Given the description of an element on the screen output the (x, y) to click on. 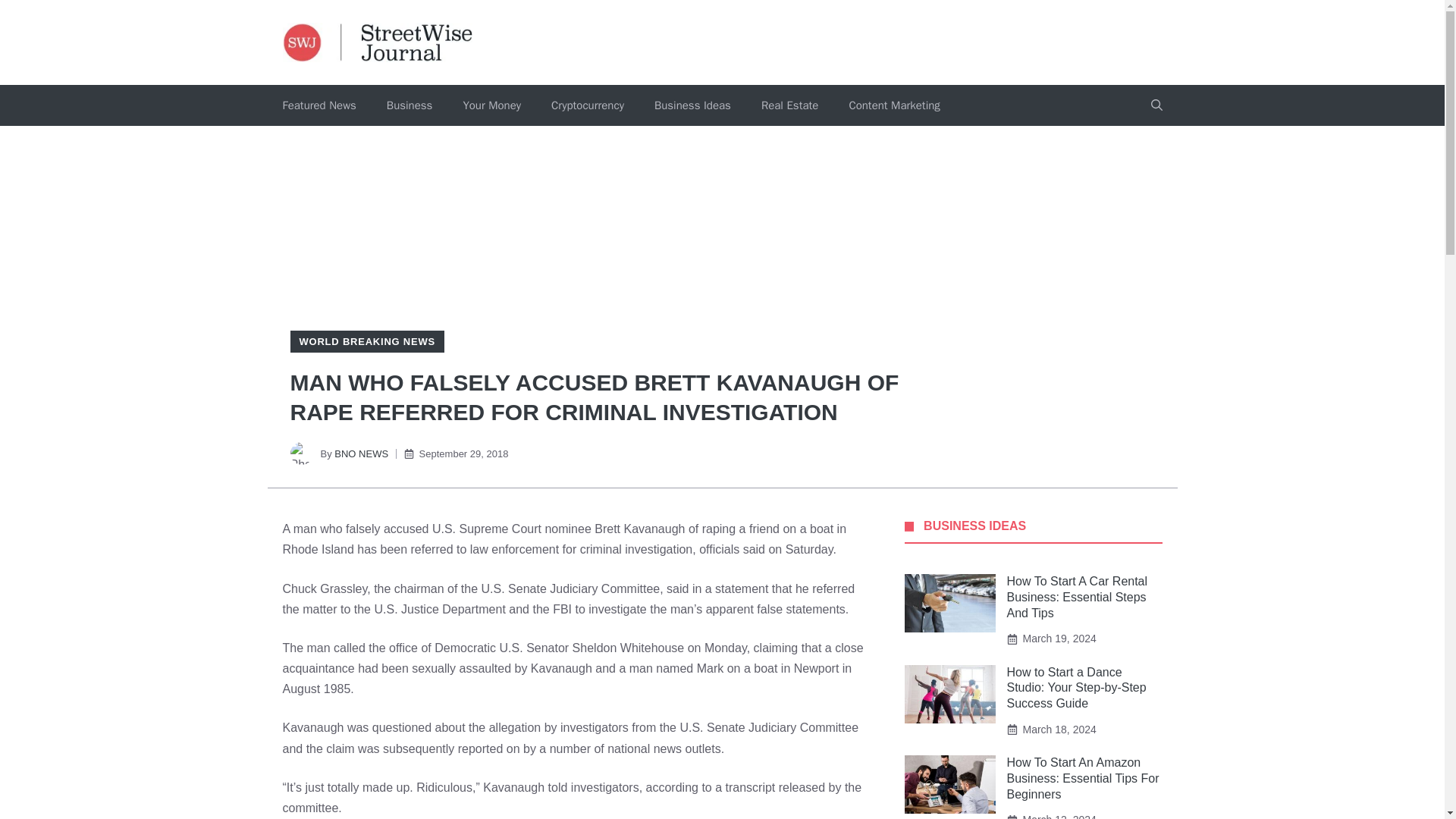
BNO NEWS (361, 453)
Business (409, 105)
How to Start a Dance Studio: Your Step-by-Step Success Guide (1077, 687)
Cryptocurrency (587, 105)
Featured News (318, 105)
How To Start A Car Rental Business: Essential Steps And Tips (1077, 596)
Your Money (490, 105)
Business Ideas (692, 105)
WORLD BREAKING NEWS (365, 341)
Real Estate (788, 105)
Content Marketing (893, 105)
